Given the description of an element on the screen output the (x, y) to click on. 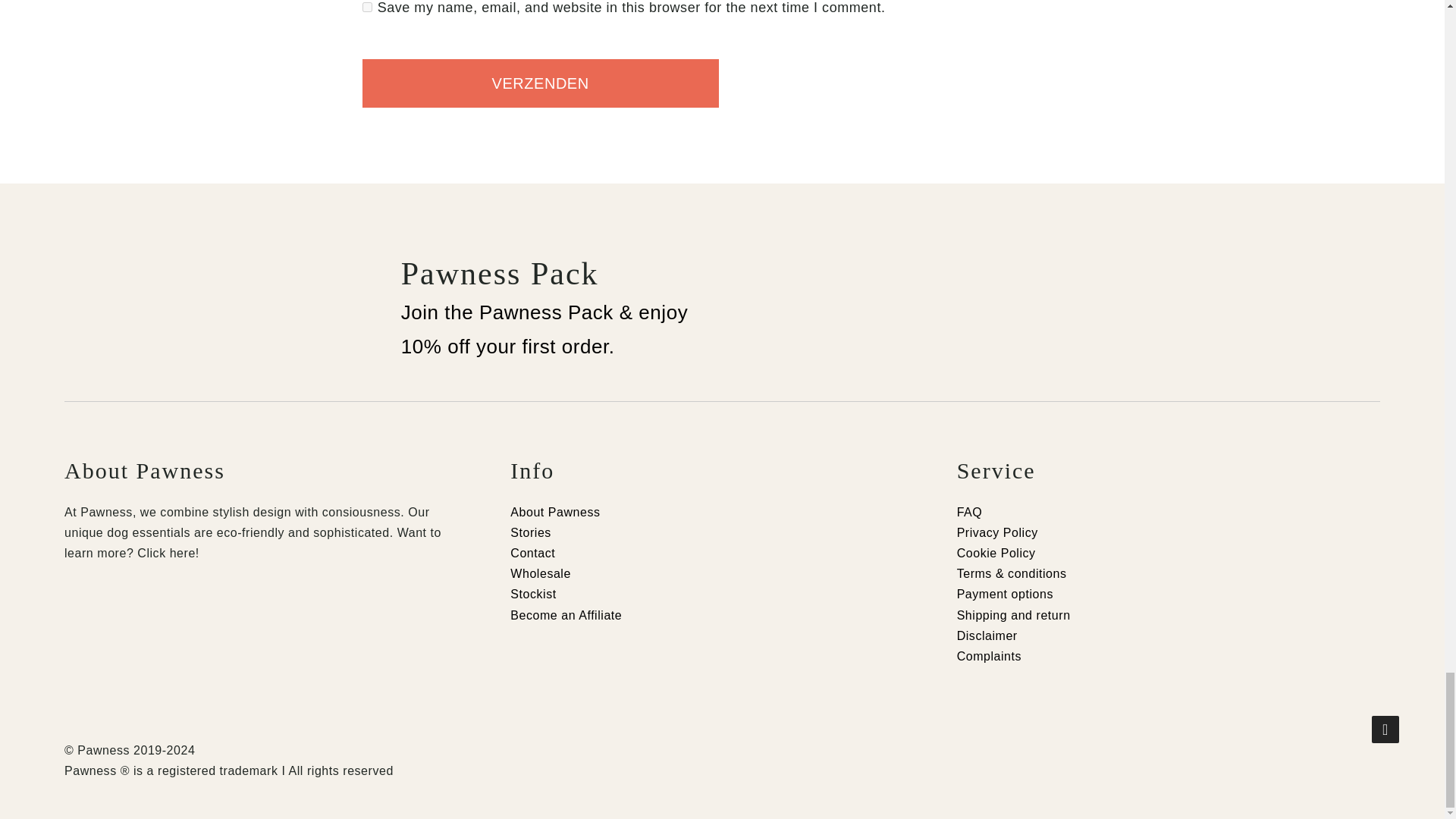
logogo (121, 303)
Privacy Policy  (997, 532)
Cookie Policy  (995, 553)
Info (722, 470)
About Pawness (275, 470)
Service (1168, 470)
verzenden (540, 82)
yes (367, 7)
